Given the description of an element on the screen output the (x, y) to click on. 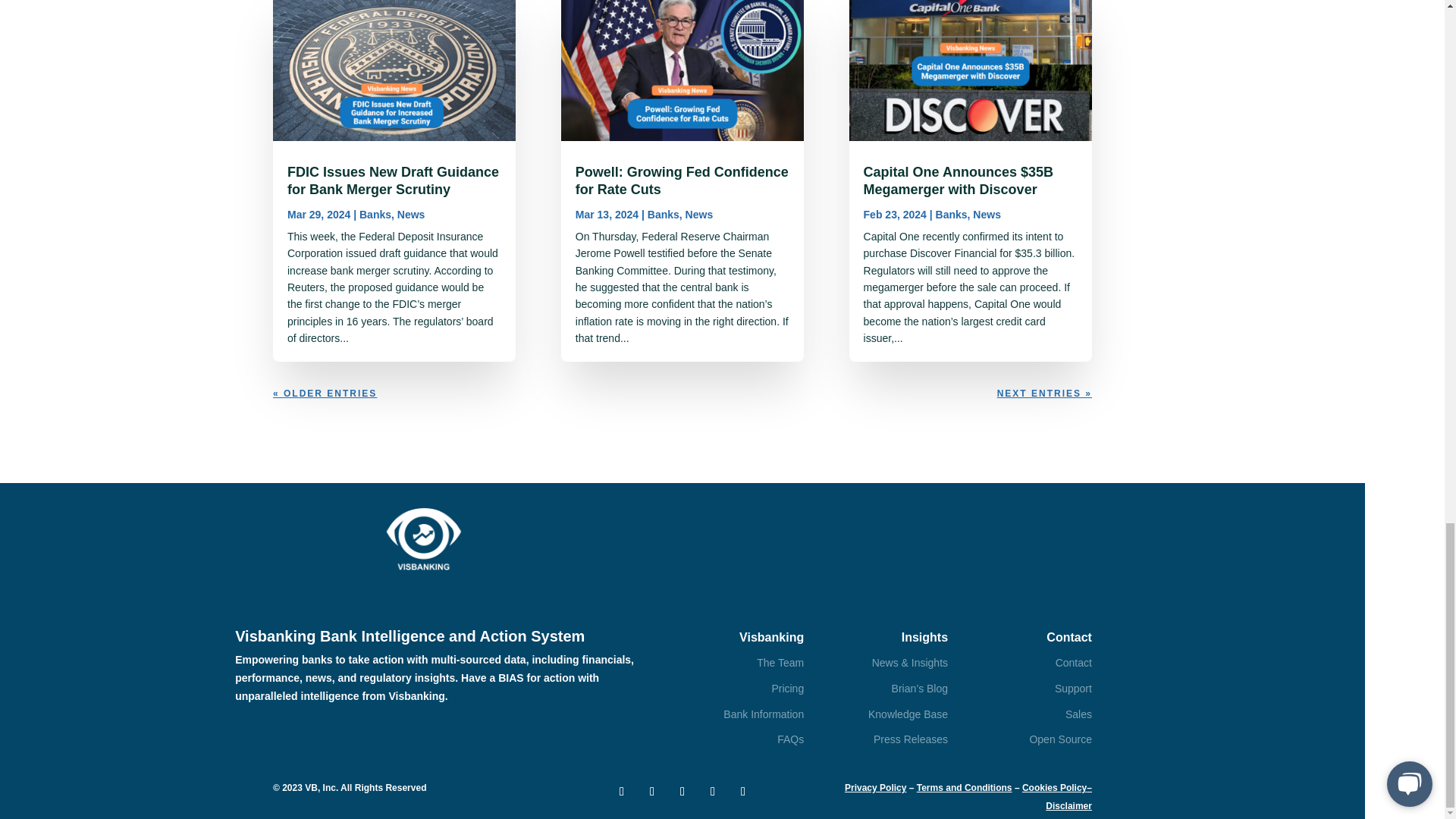
Follow on Facebook (621, 791)
FDIC Issues New Draft Guidance for Bank Merger Scrutiny (392, 180)
Powell: Growing Fed Confidence for Rate Cuts (682, 180)
Follow on LinkedIn (681, 791)
News (411, 214)
Follow on Youtube (712, 791)
logo.png (423, 538)
Banks (663, 214)
Banks (375, 214)
Follow on X (651, 791)
Follow on Instagram (742, 791)
